Given the description of an element on the screen output the (x, y) to click on. 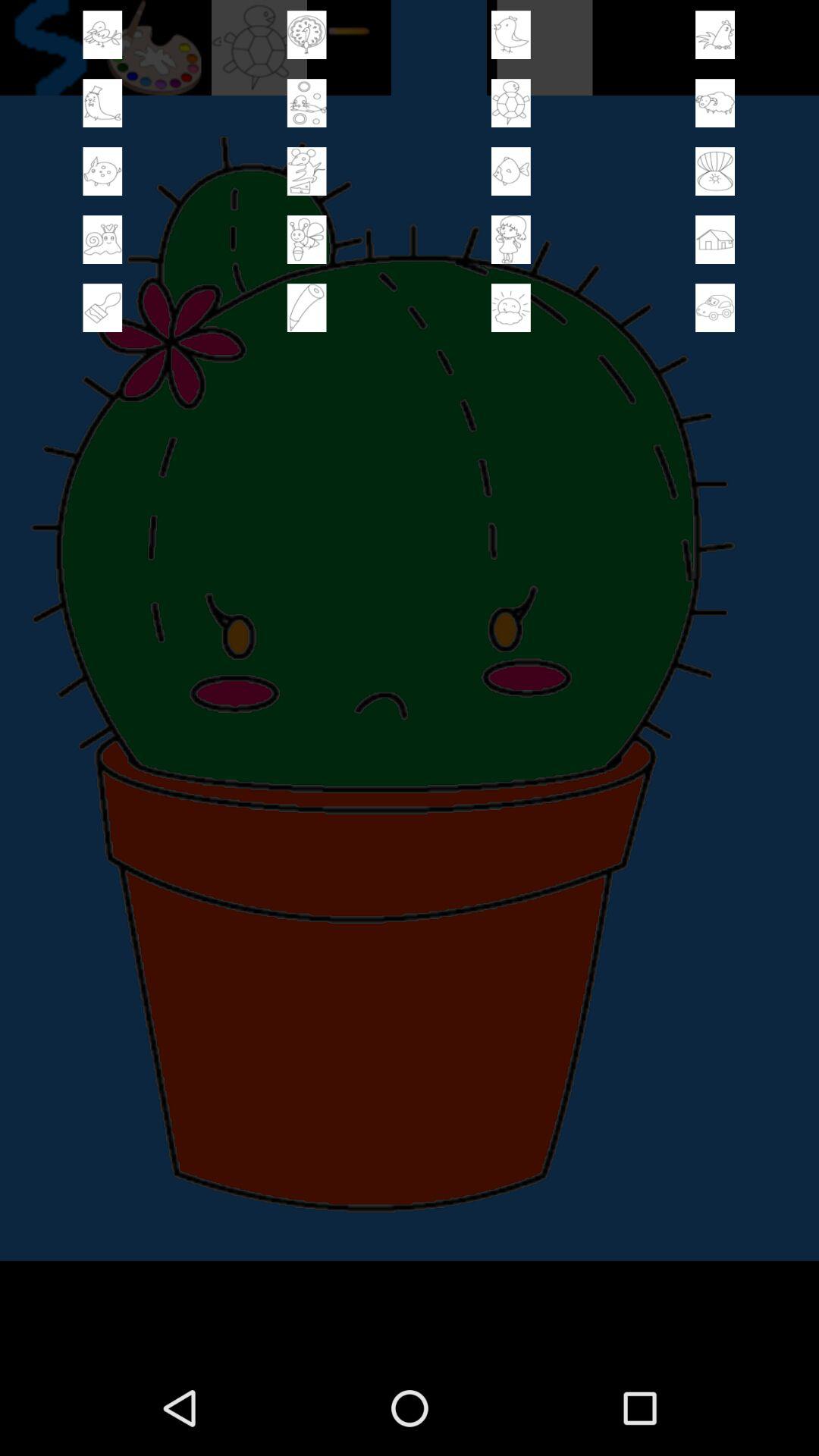
show picture of a house (715, 239)
